Given the description of an element on the screen output the (x, y) to click on. 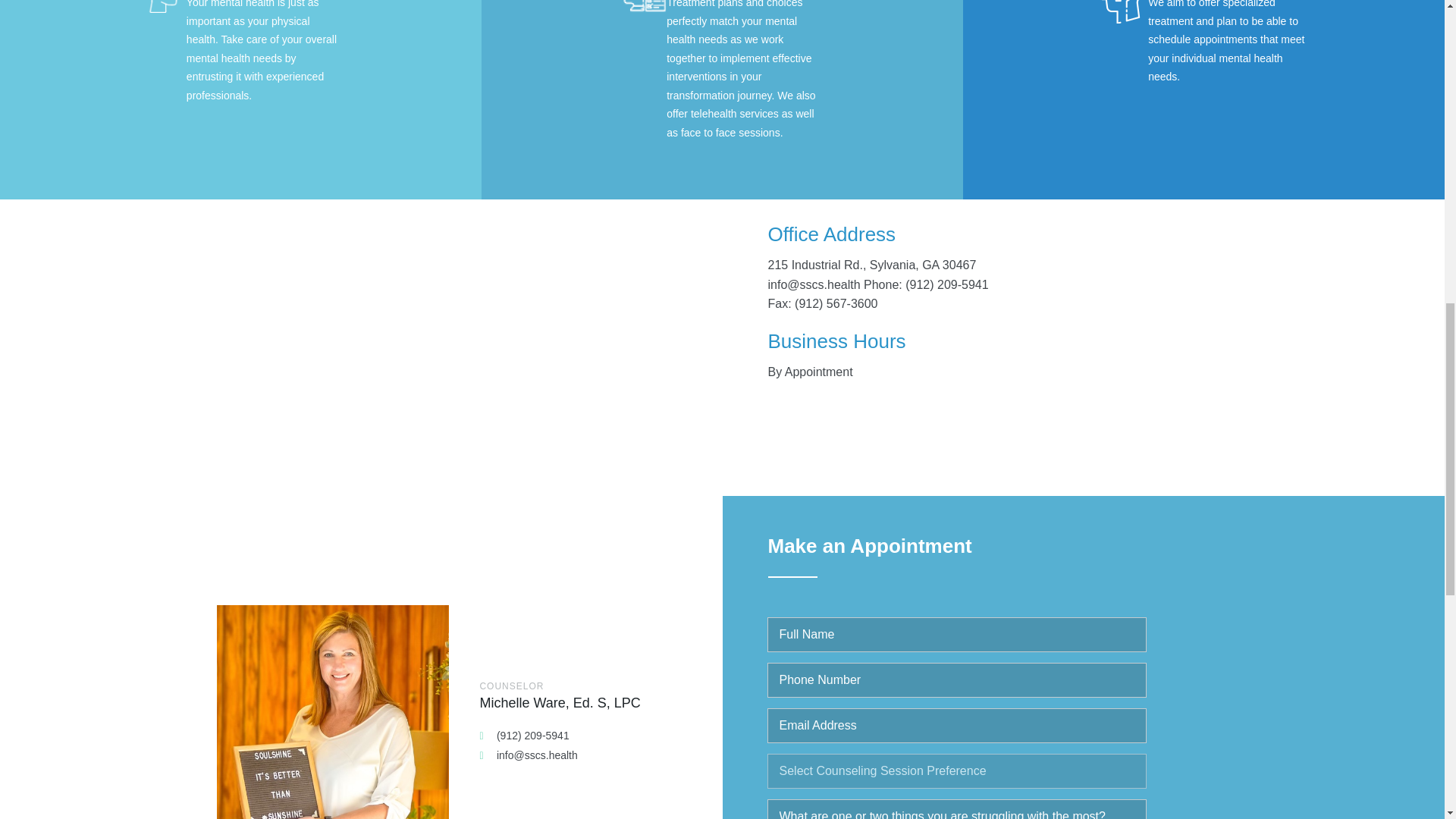
Personalized-Treatment (642, 7)
